Given the description of an element on the screen output the (x, y) to click on. 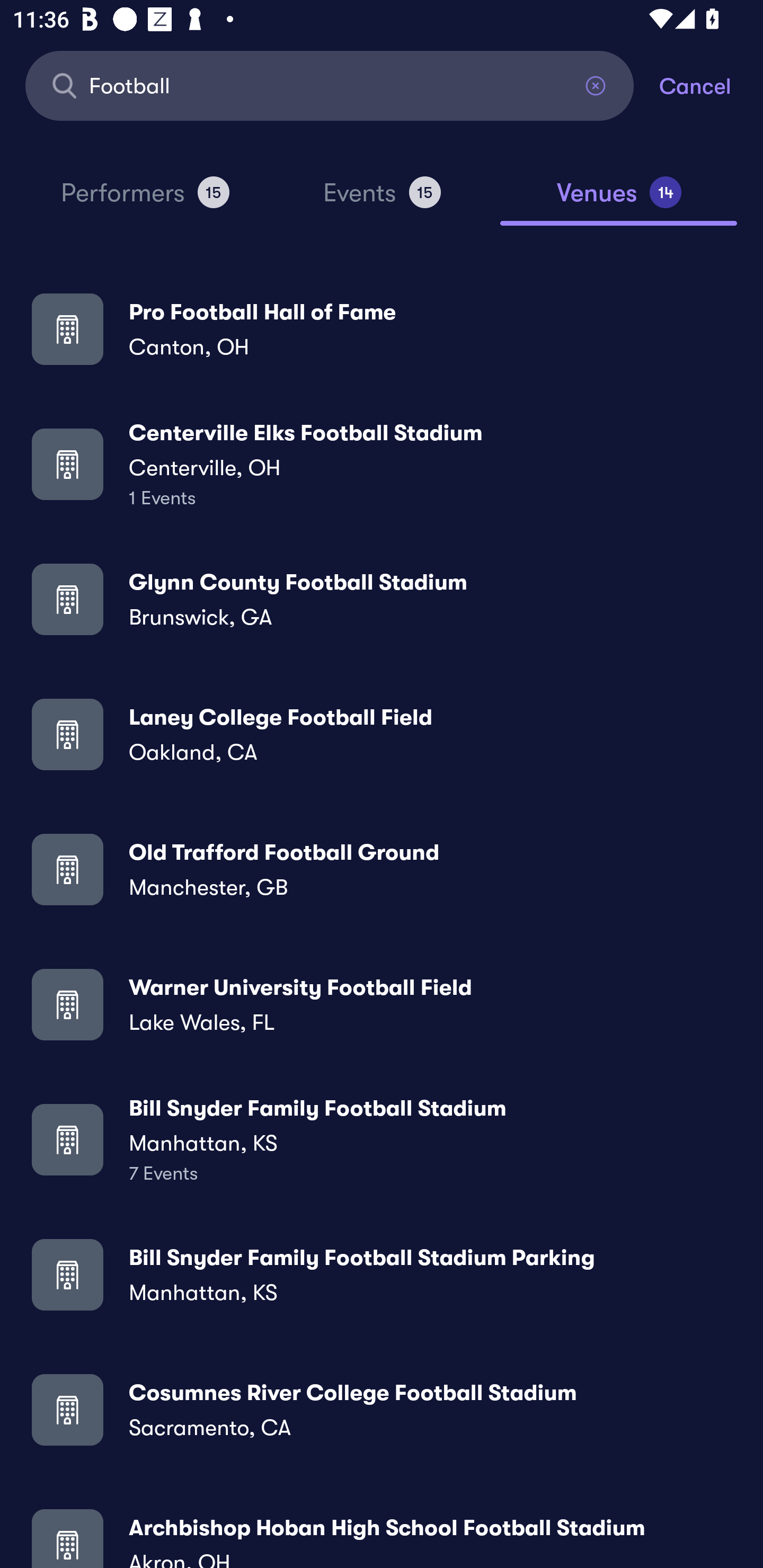
Football Find (329, 85)
Football Find (329, 85)
Cancel (711, 85)
Performers 15 (144, 200)
Events 15 (381, 200)
Venues 14 (618, 200)
Pro Football Hall of Fame Canton, OH (381, 328)
Glynn County Football Stadium Brunswick, GA (381, 598)
Laney College Football Field Oakland, CA (381, 734)
Old Trafford Football Ground Manchester, GB (381, 869)
Warner University Football Field Lake Wales, FL (381, 1004)
